Given the description of an element on the screen output the (x, y) to click on. 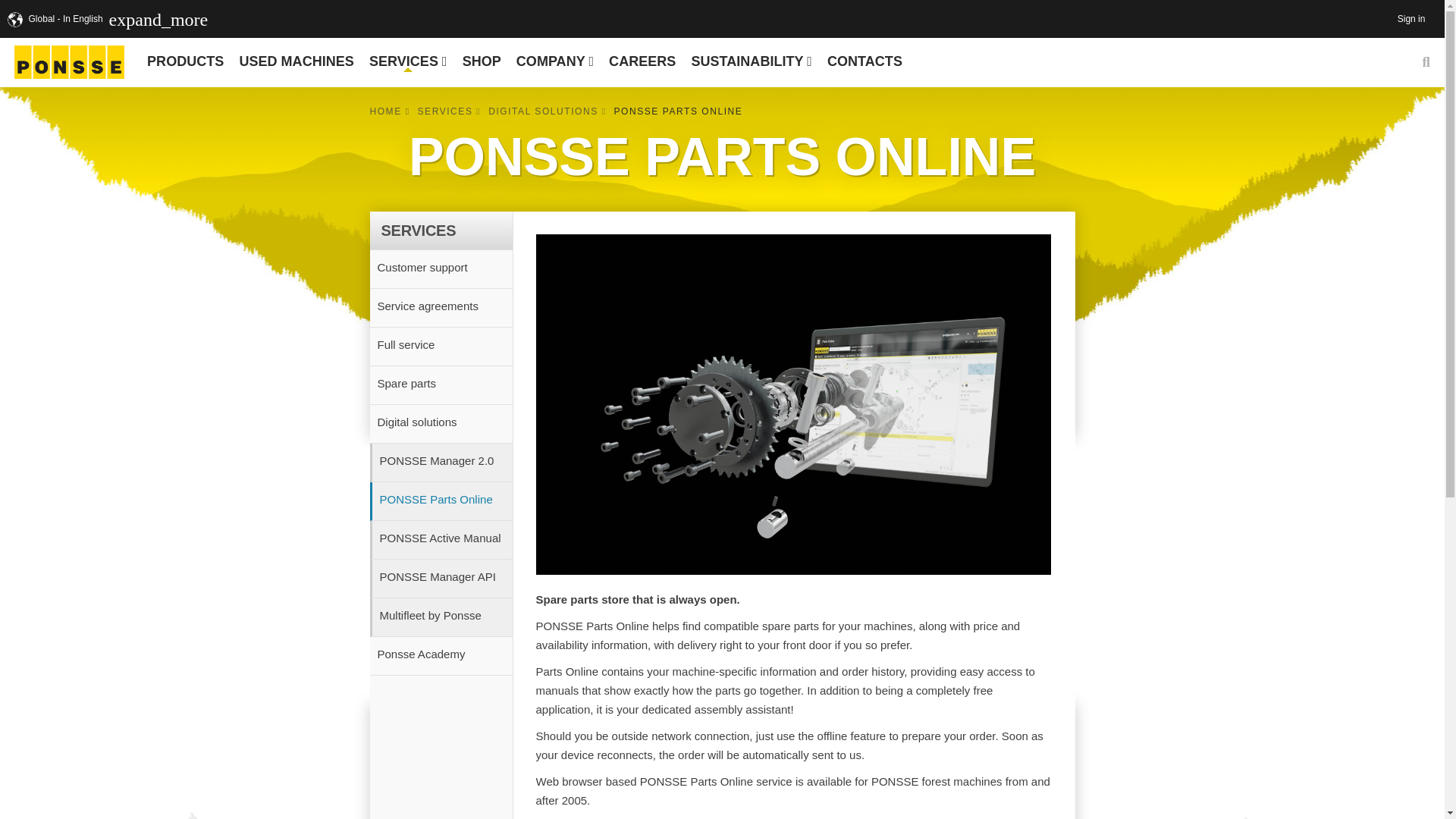
COMPANY (554, 60)
SERVICES (407, 60)
SHOP (481, 60)
USED MACHINES (296, 60)
PRODUCTS (185, 60)
